Given the description of an element on the screen output the (x, y) to click on. 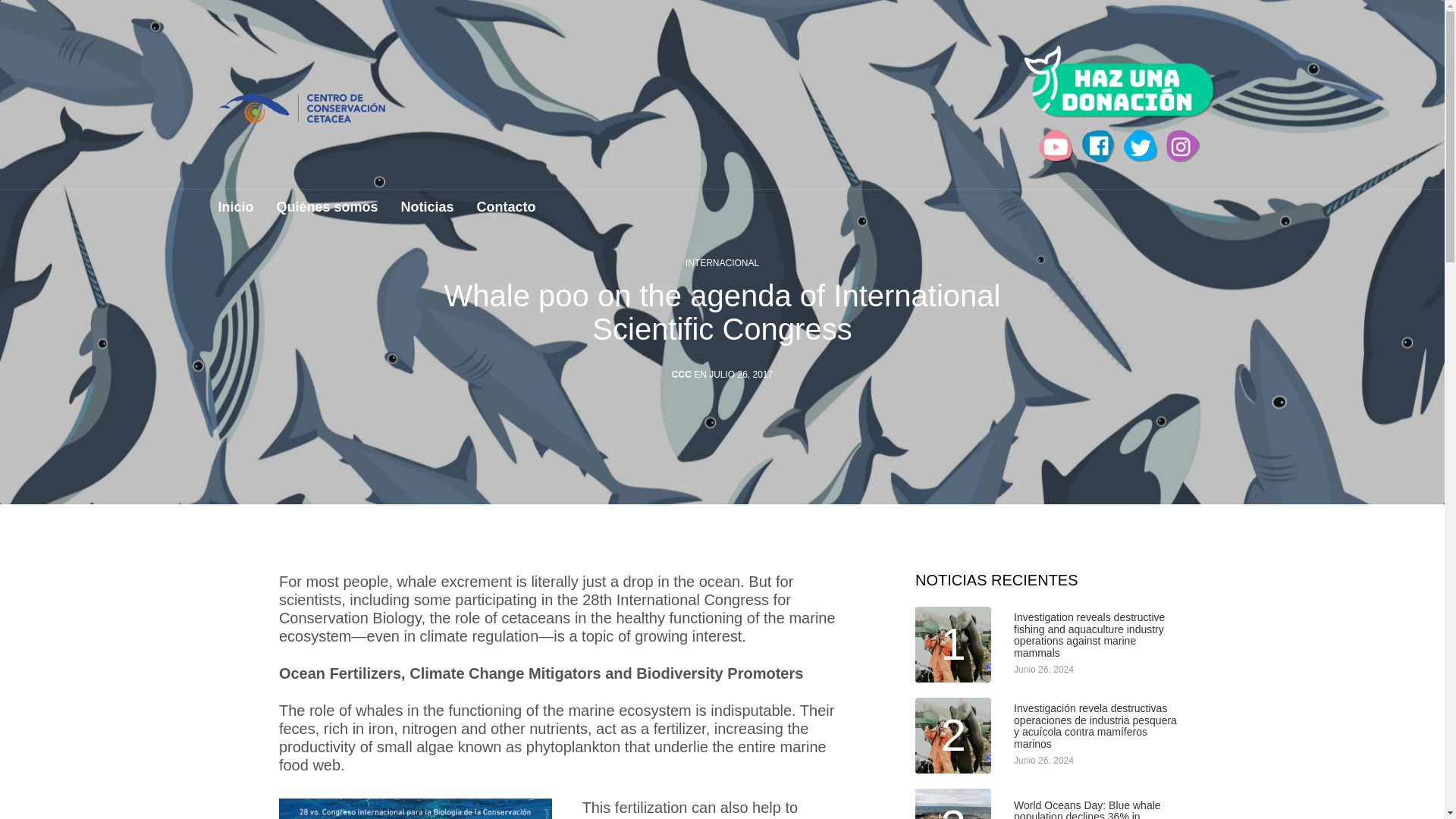
INTERNACIONAL (721, 262)
1 (953, 644)
Noticias (427, 214)
Inicio (235, 214)
CCC Chile (301, 107)
Contacto (506, 214)
2 (953, 735)
CCC (681, 374)
Publicados por CCC (681, 374)
3 (953, 803)
